Given the description of an element on the screen output the (x, y) to click on. 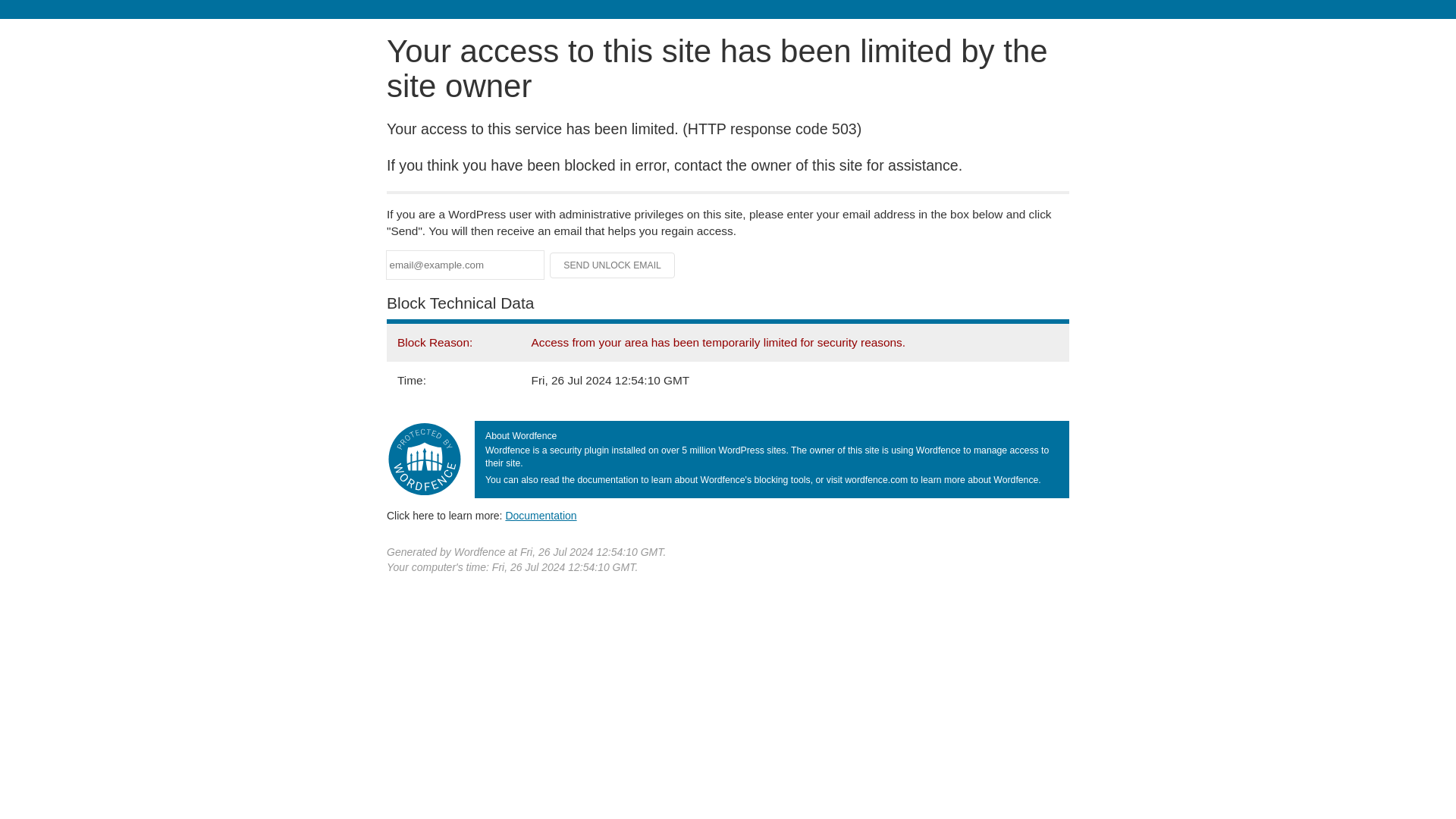
Documentation (540, 515)
Send Unlock Email (612, 265)
Send Unlock Email (612, 265)
